Given the description of an element on the screen output the (x, y) to click on. 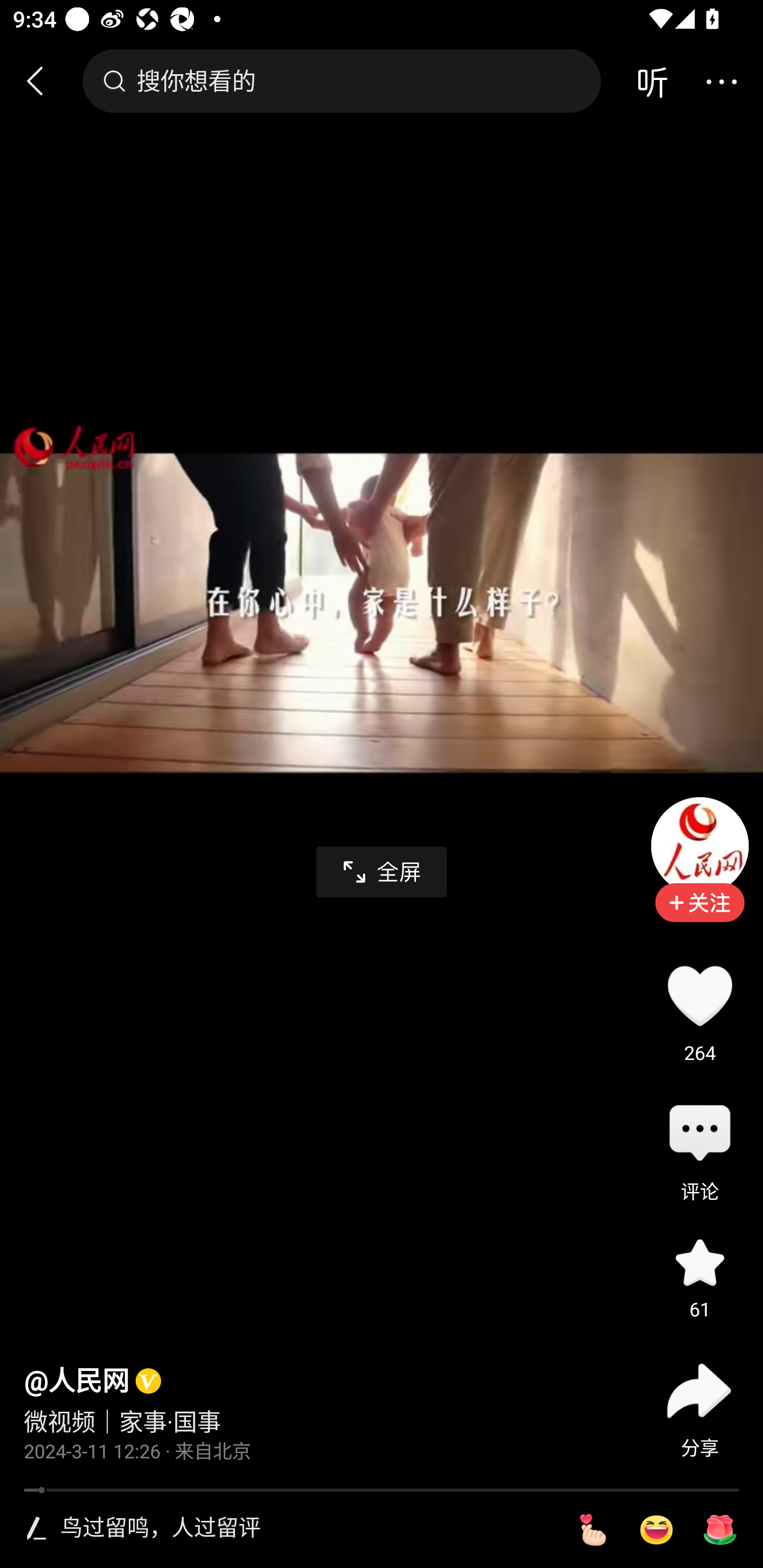
搜你想看的 搜索框，搜你想看的 (341, 80)
返回 (43, 80)
音频 (651, 80)
更多操作 (720, 80)
头像 (699, 845)
全屏播放 (381, 871)
加关注 (699, 915)
点赞264 264 (699, 995)
评论 评论 评论 (699, 1134)
收藏 61 (699, 1262)
分享 (699, 1390)
@人民网 (75, 1381)
鸟过留鸣，人过留评 (305, 1529)
[比心] (592, 1530)
[大笑] (656, 1530)
[玫瑰] (719, 1530)
